Given the description of an element on the screen output the (x, y) to click on. 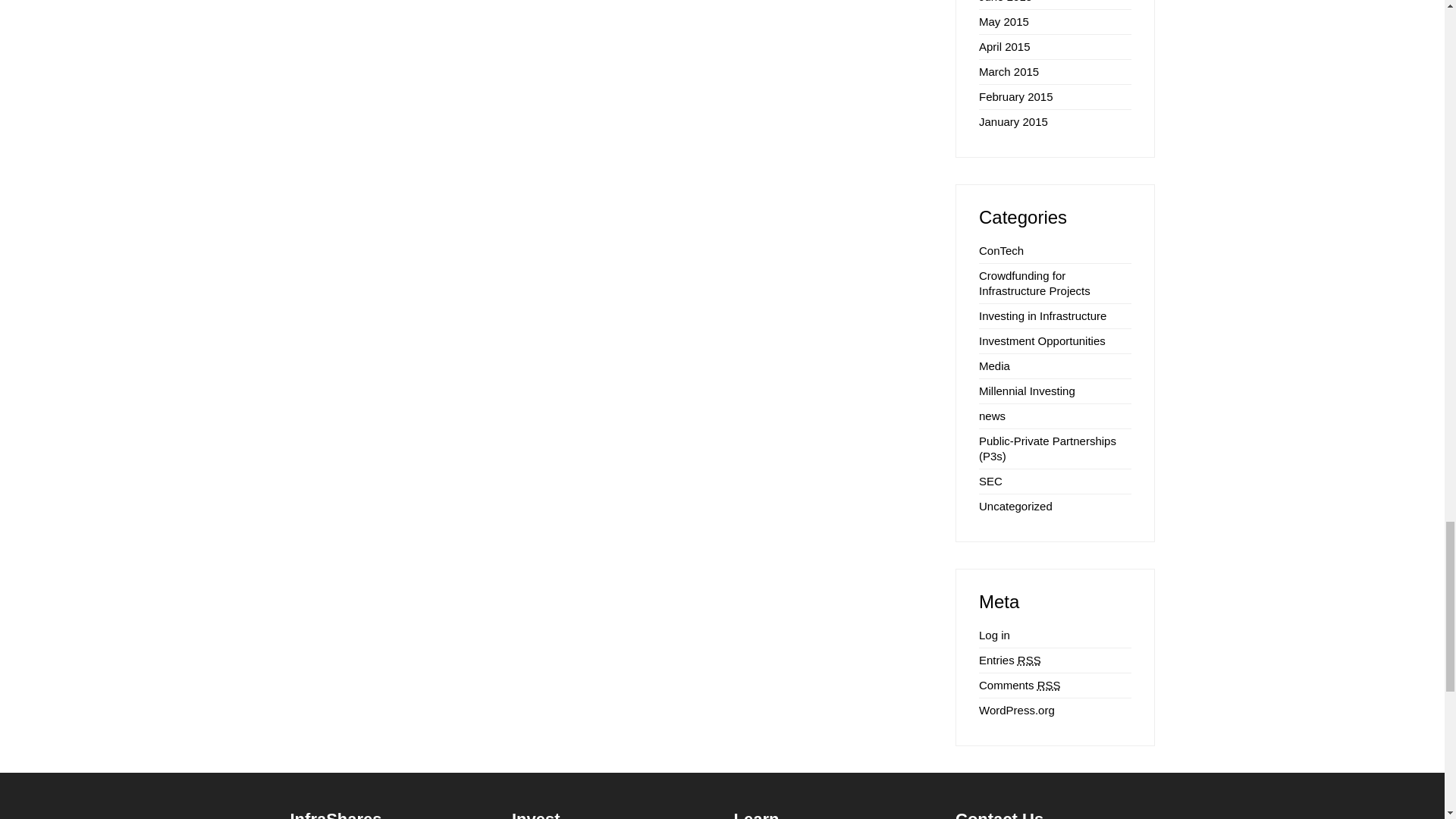
Crowdfunding for Infrastructure Projects (1054, 283)
Really Simple Syndication (1048, 684)
Really Simple Syndication (1029, 659)
Investing in Infrastructure (1042, 315)
